Given the description of an element on the screen output the (x, y) to click on. 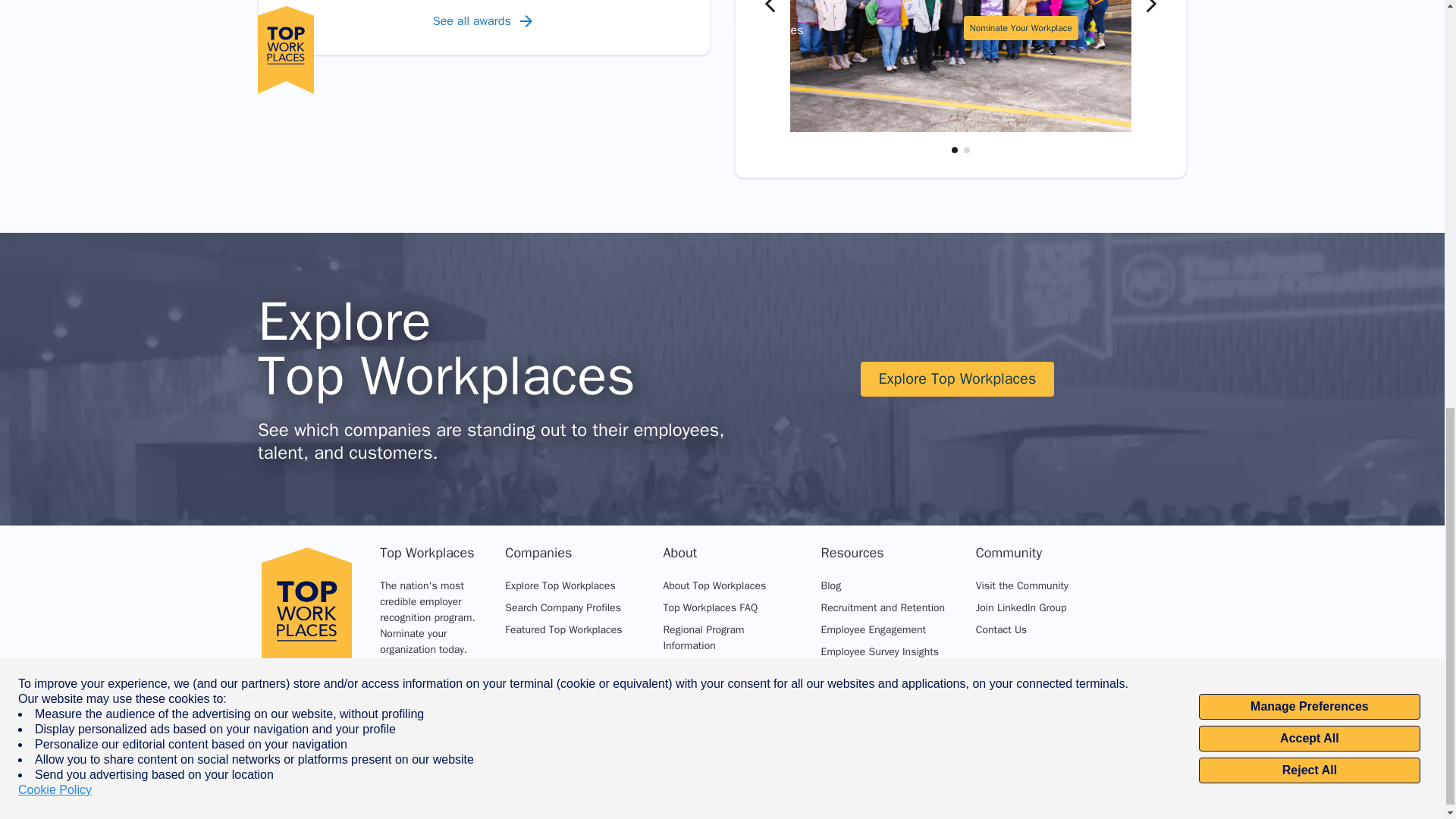
Explore Top Workplaces (957, 378)
See all awards (483, 21)
